Given the description of an element on the screen output the (x, y) to click on. 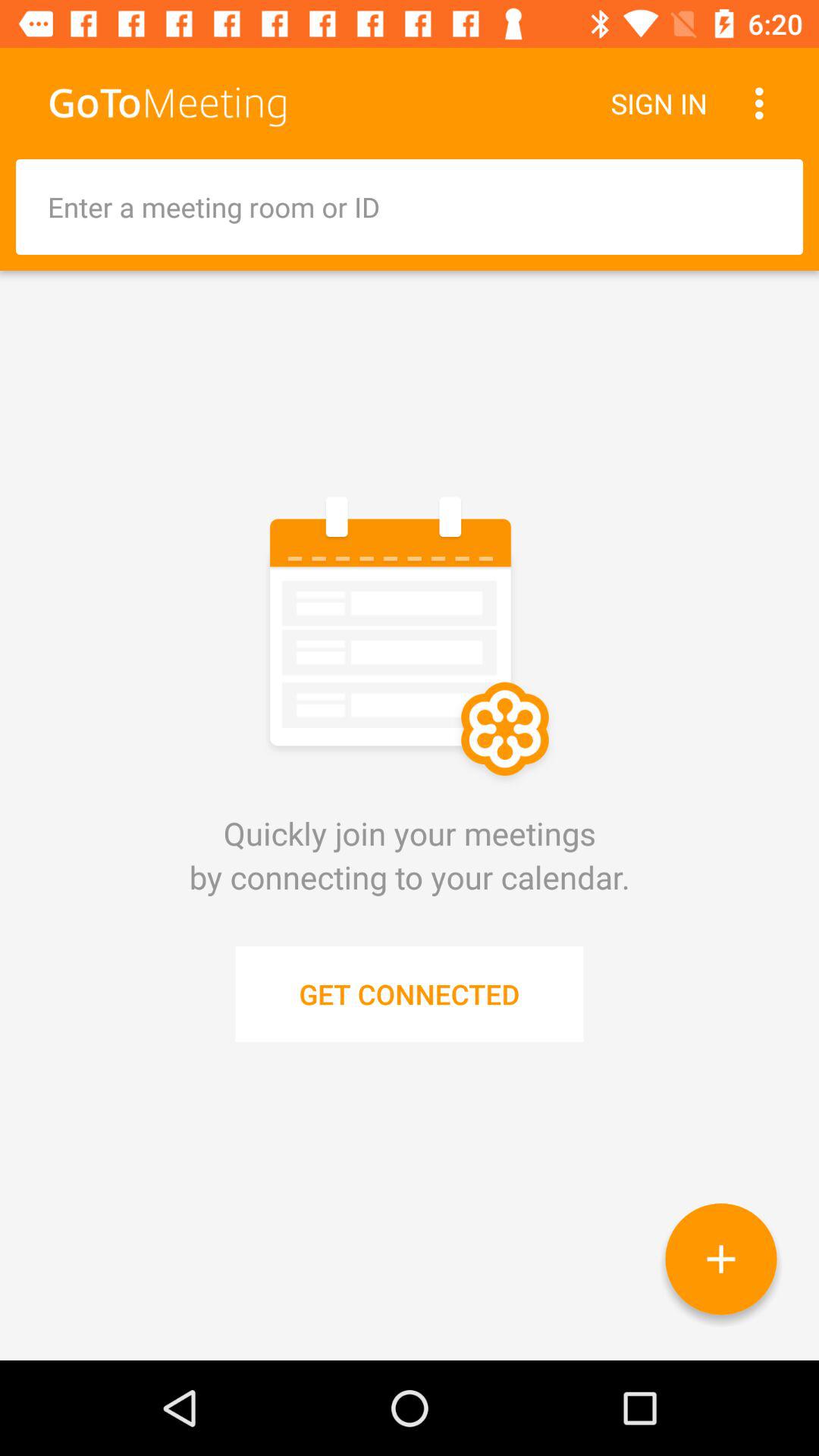
turn on sign in icon (658, 103)
